Given the description of an element on the screen output the (x, y) to click on. 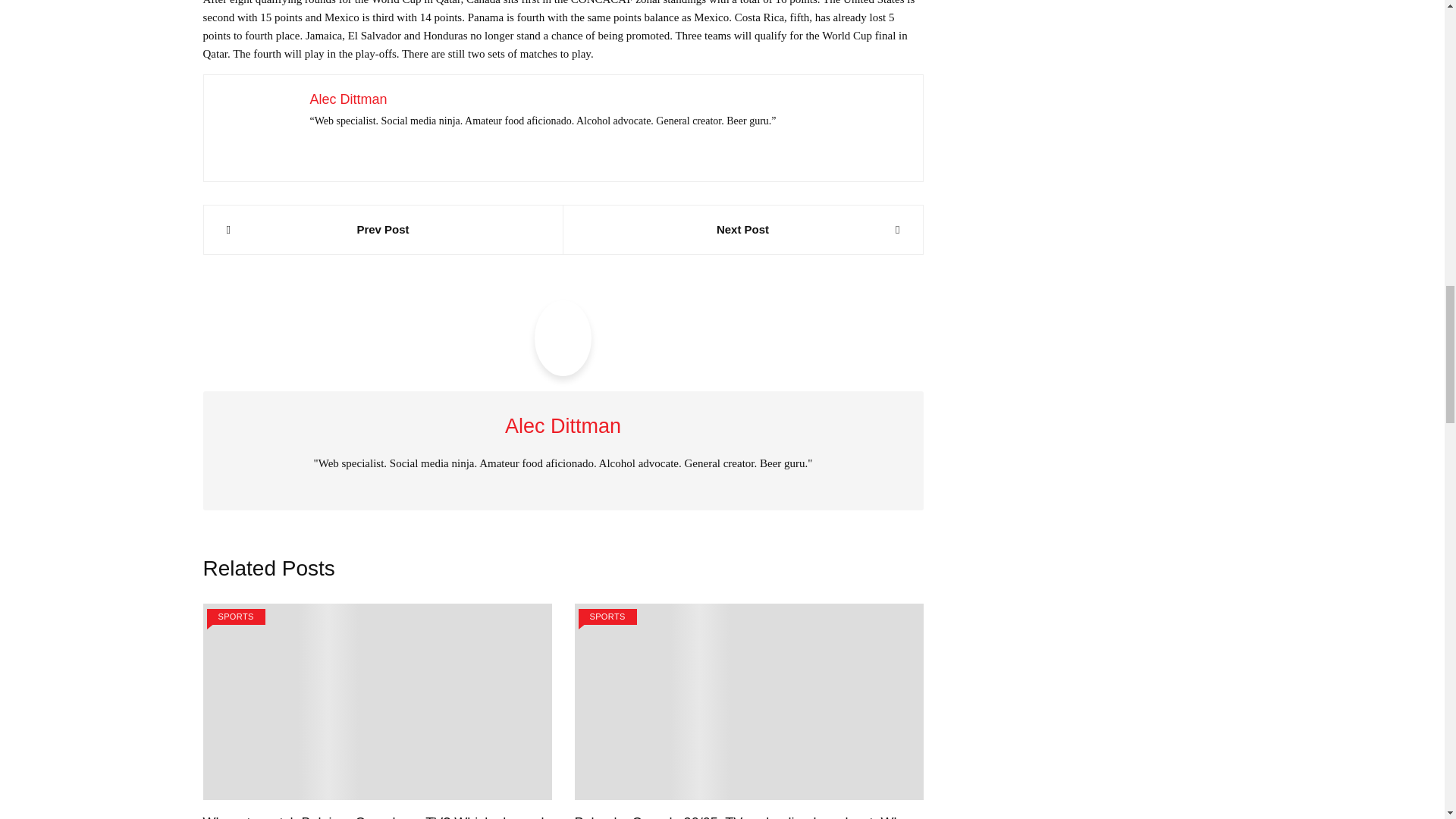
SPORTS (235, 616)
SPORTS (607, 616)
Alec Dittman (347, 99)
Next Post (742, 229)
Prev Post (381, 229)
